Given the description of an element on the screen output the (x, y) to click on. 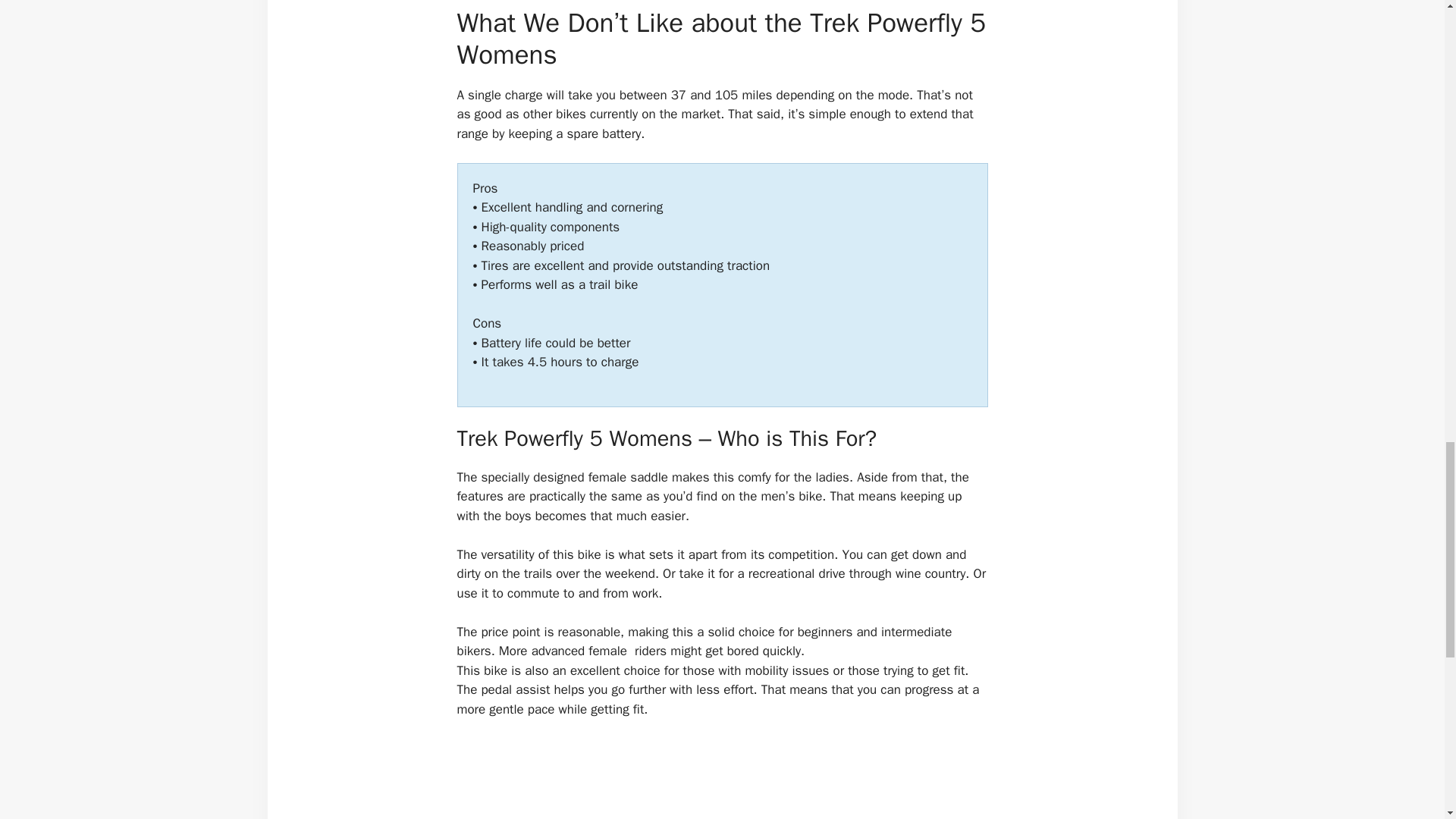
Trek Powerfly 5 Womens Electric Mountain Bike Review 1 (722, 778)
Trek Powerfly 5 Womens (722, 778)
